Given the description of an element on the screen output the (x, y) to click on. 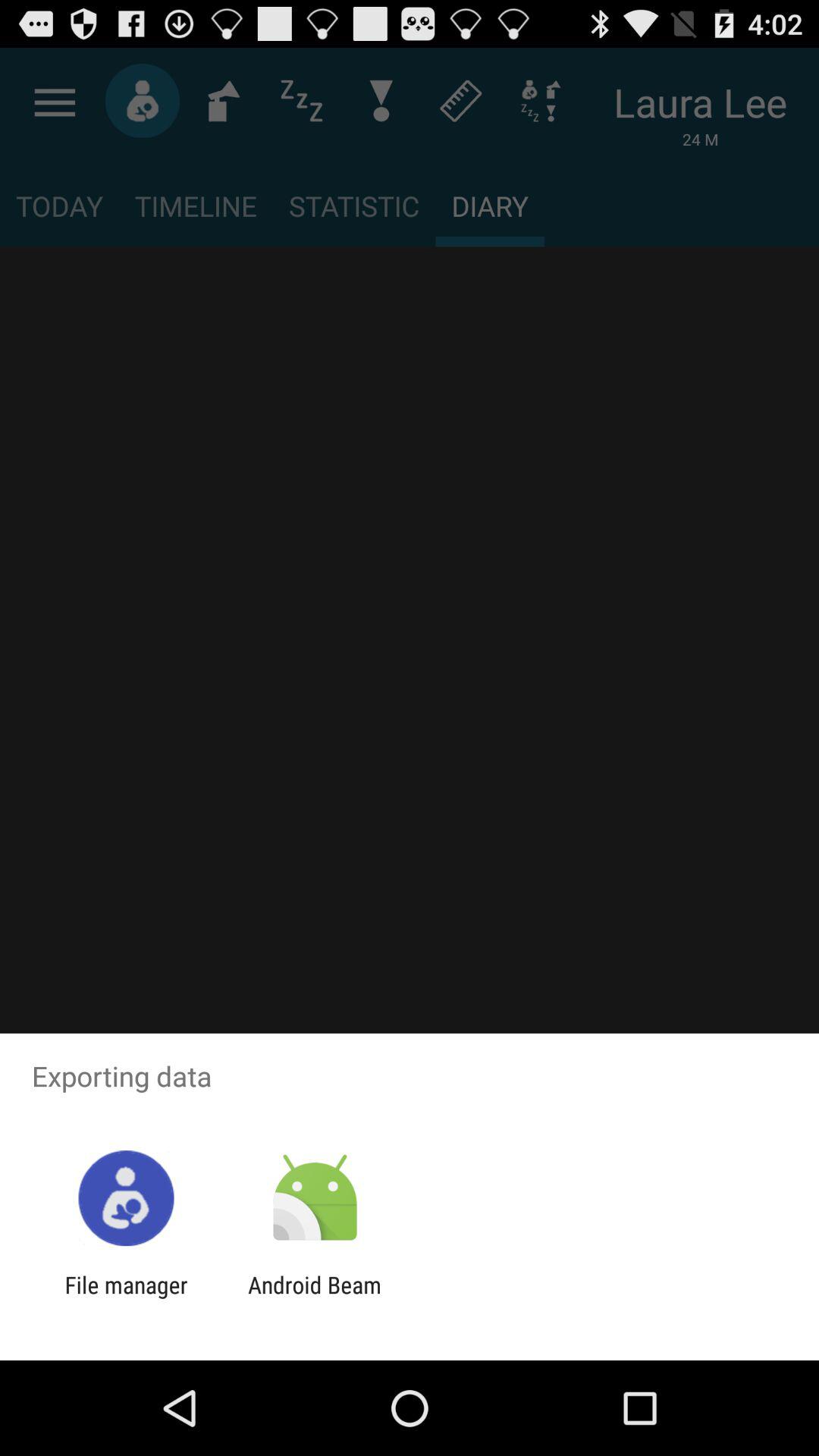
scroll to file manager icon (125, 1298)
